Given the description of an element on the screen output the (x, y) to click on. 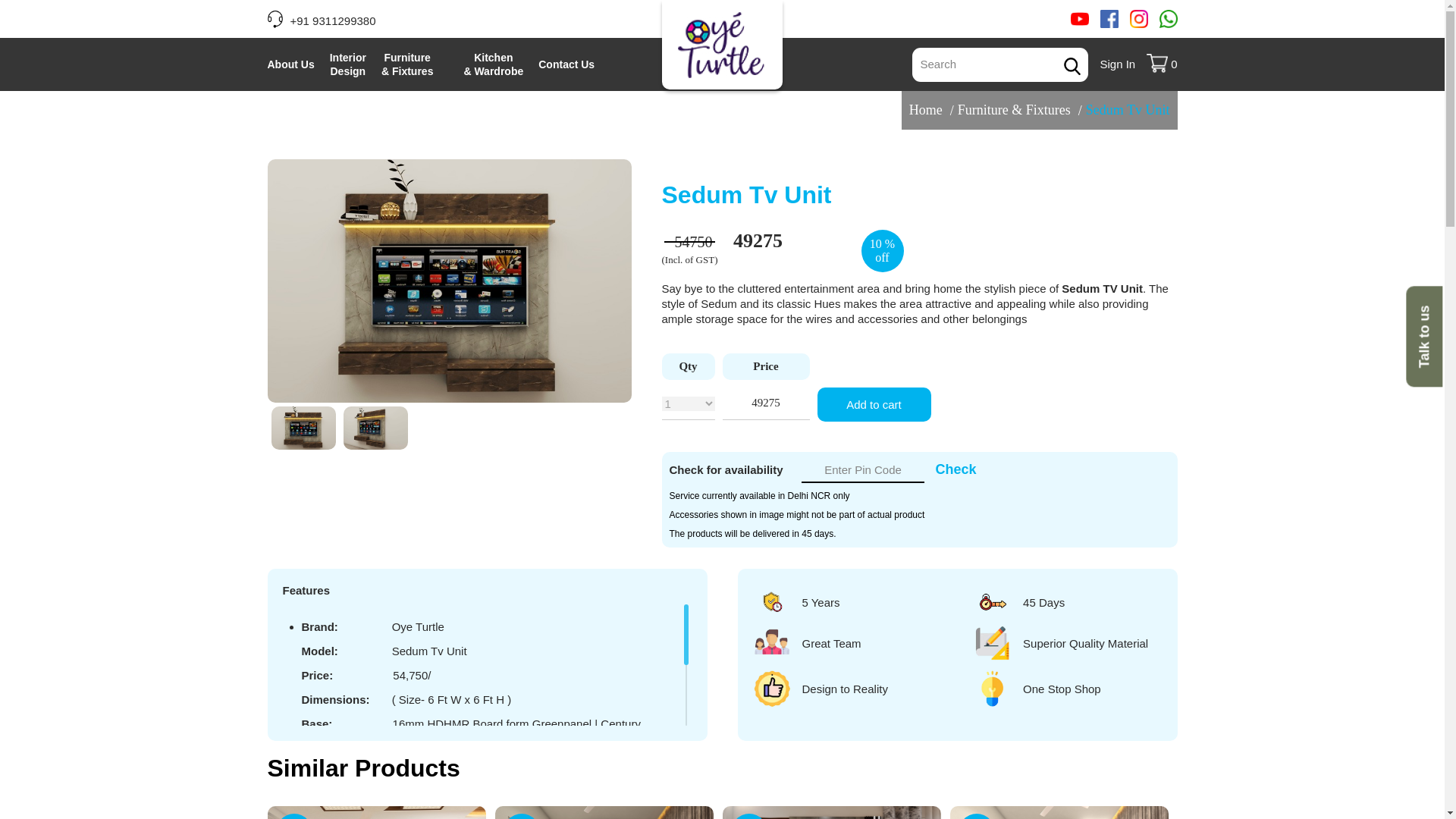
Contact Us (566, 63)
Sedum Tv Unit (1127, 109)
0 (1161, 64)
Sign In (1117, 64)
Home (925, 109)
